Given the description of an element on the screen output the (x, y) to click on. 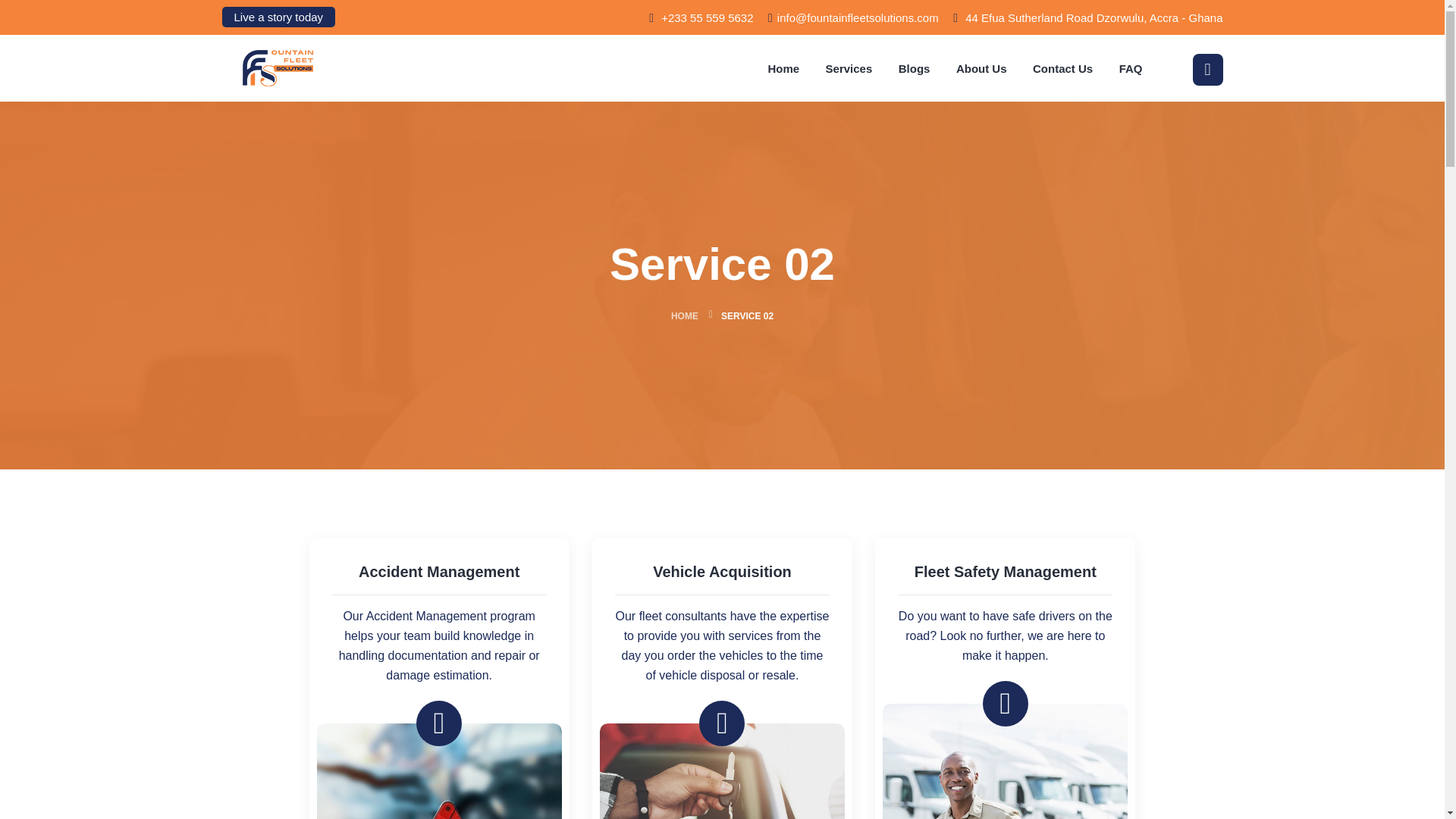
Services (848, 68)
HOME (684, 316)
Accident Management (439, 571)
Blogs (914, 68)
Contact Us (1062, 68)
FAQ (1130, 68)
Live a story today (277, 16)
Fleet Safety Management (1005, 571)
About Us (981, 68)
Vehicle Acquisition (721, 571)
Home (783, 68)
